Given the description of an element on the screen output the (x, y) to click on. 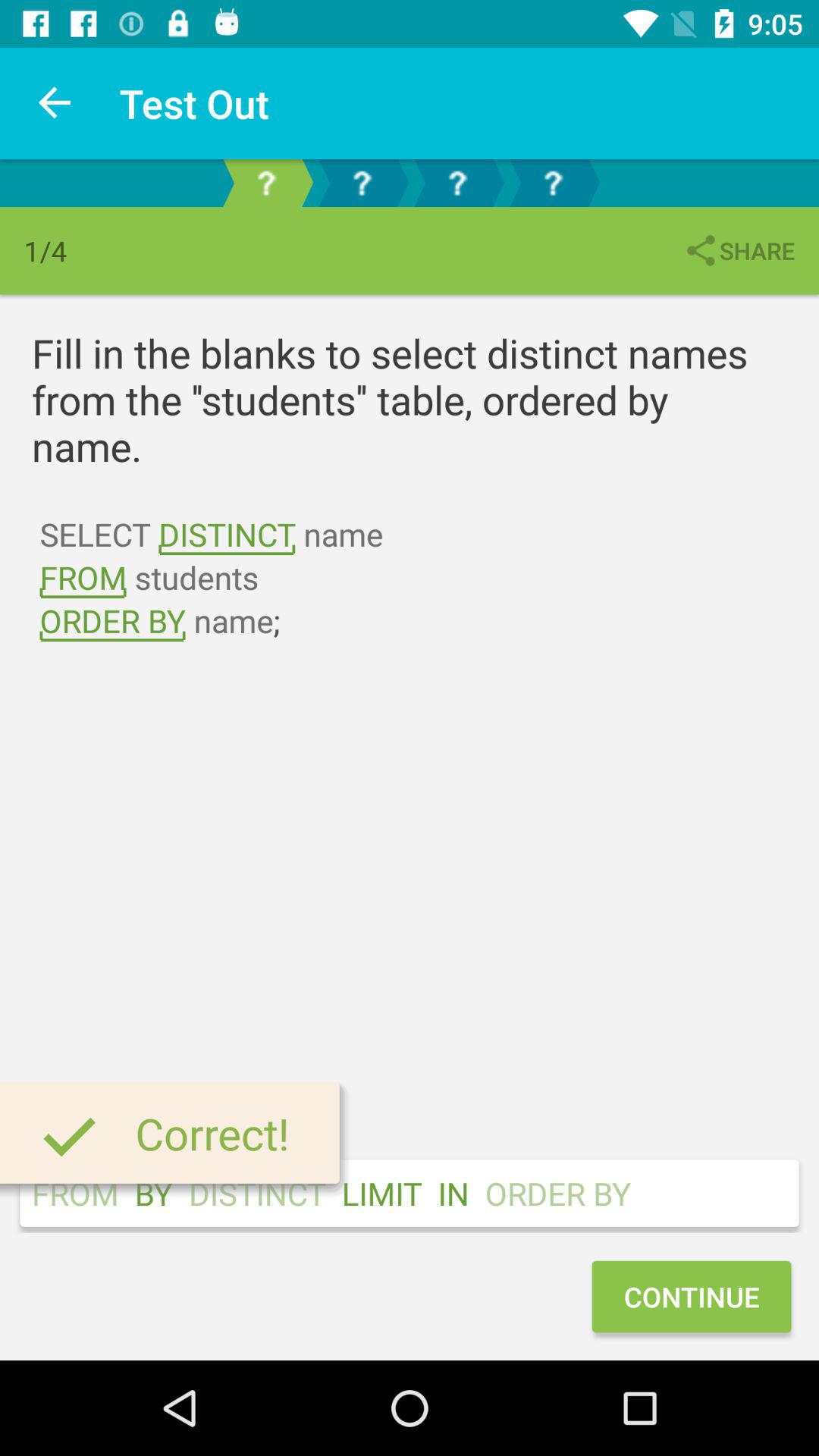
questions (552, 183)
